Given the description of an element on the screen output the (x, y) to click on. 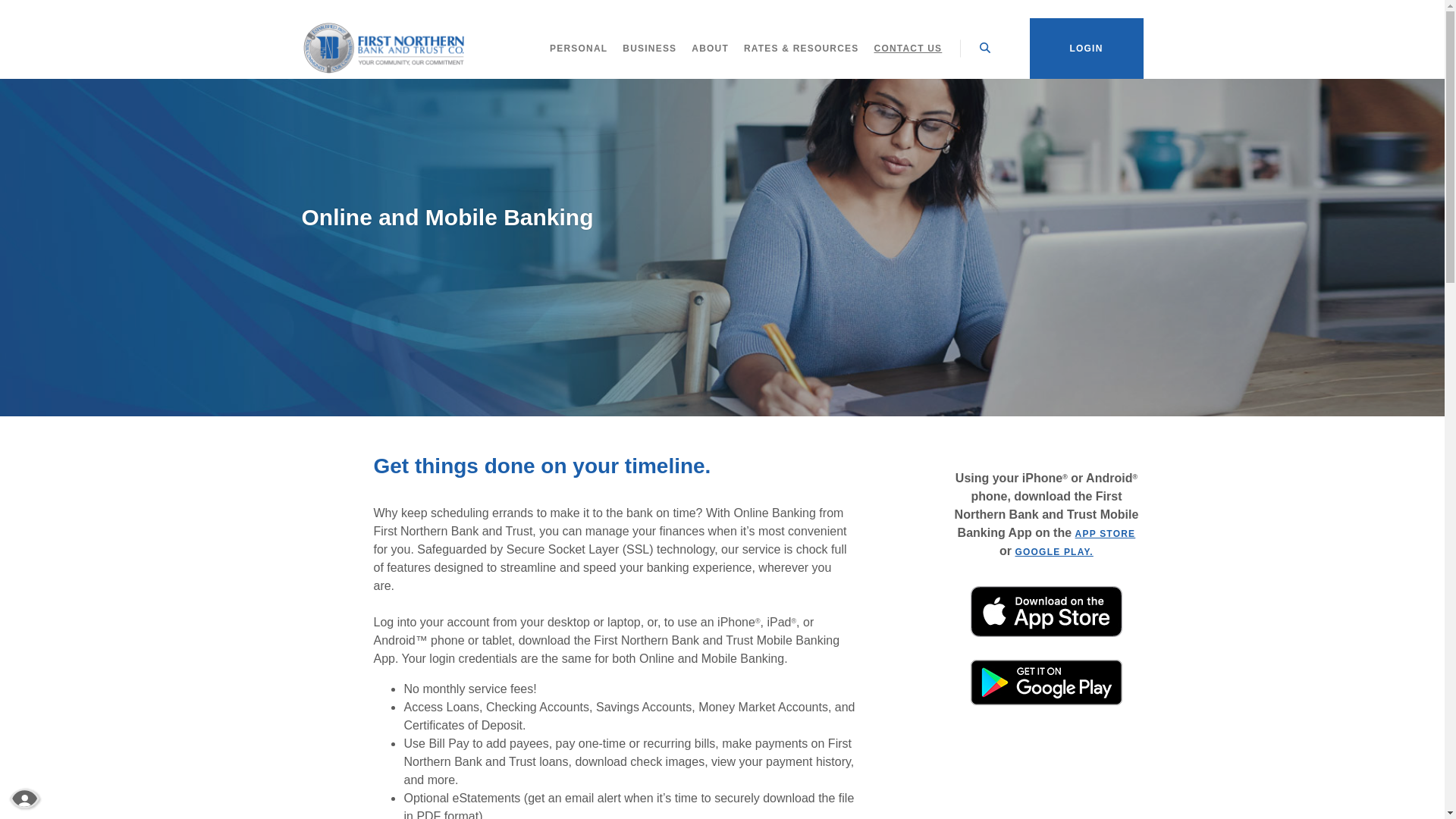
CONTACT US Element type: text (908, 48)
First Northern Bank and Trust, Palmerton, PA Element type: hover (382, 48)
GOOGLE PLAY.
(OPENS IN A NEW WINDOW) Element type: text (1054, 551)
APP STORE
(OPENS IN A NEW WINDOW) Element type: text (1105, 533)
LOGIN Element type: text (1086, 48)
(OPENS IN A NEW WINDOW) Element type: text (1045, 611)
(OPENS IN A NEW WINDOW) Element type: text (1045, 701)
